Given the description of an element on the screen output the (x, y) to click on. 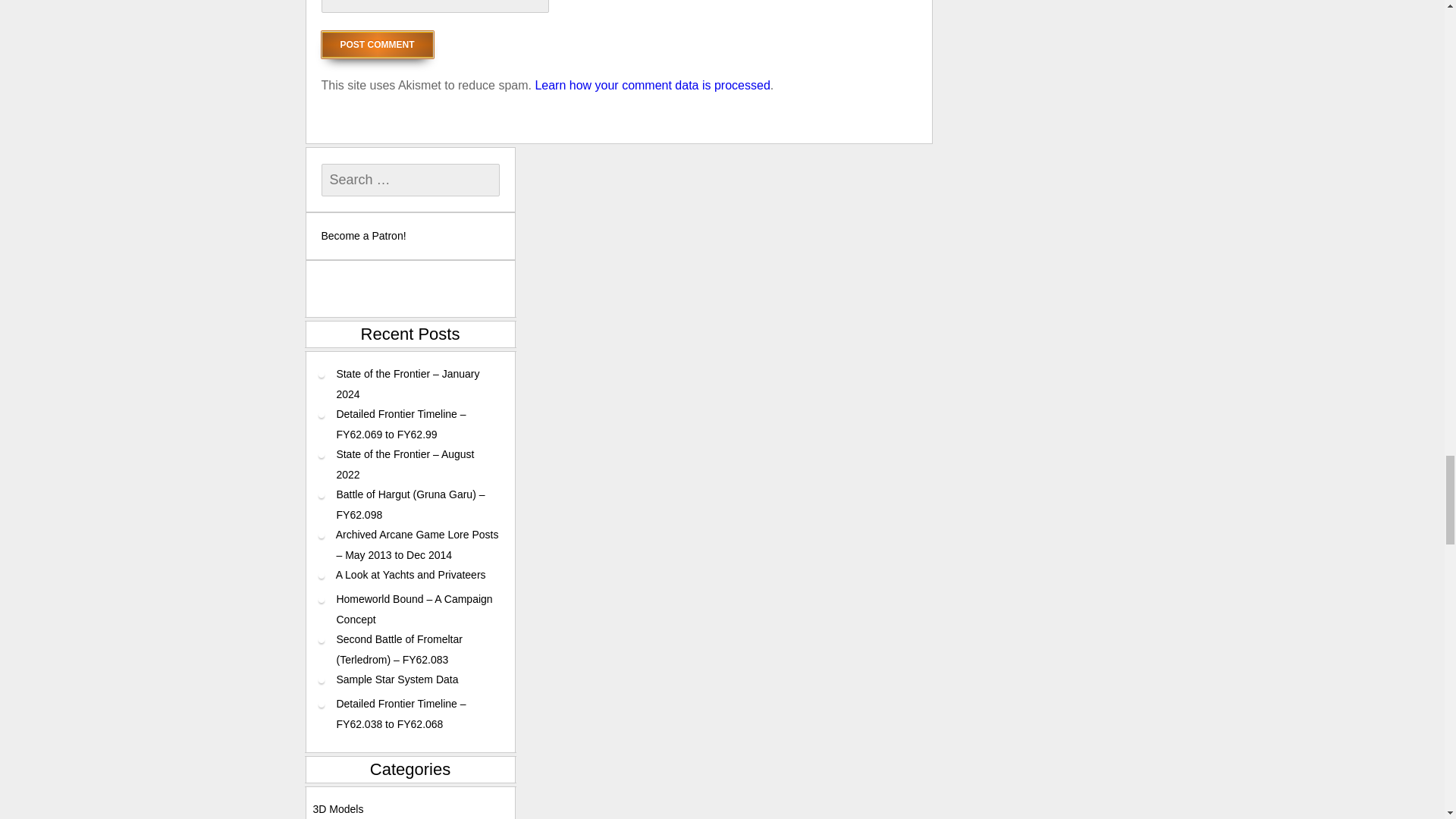
Post Comment (377, 44)
Learn how your comment data is processed (652, 84)
youtube (486, 288)
google (461, 288)
Post Comment (377, 44)
twitter (437, 288)
facebook (413, 288)
